Given the description of an element on the screen output the (x, y) to click on. 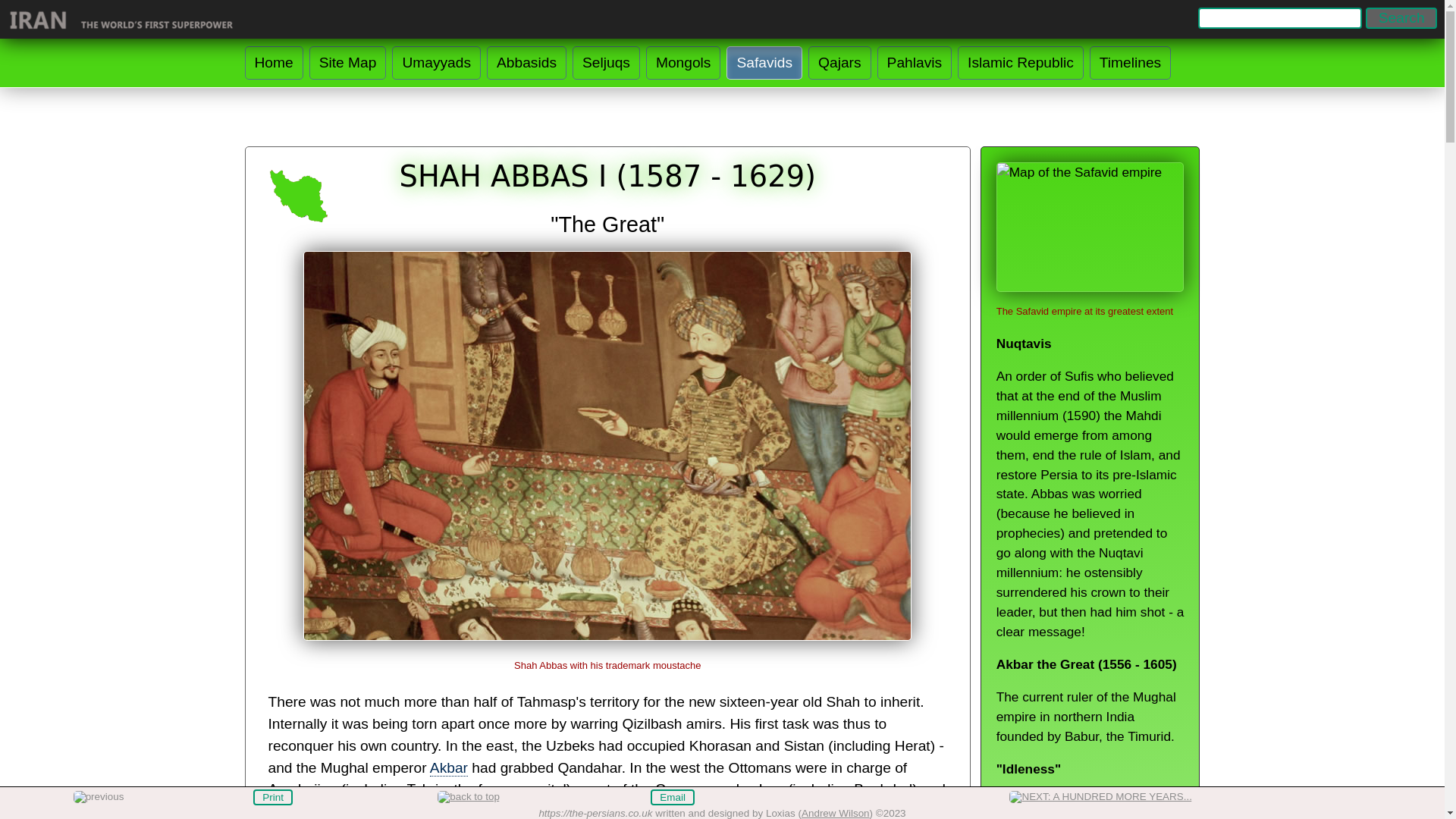
Click me for a map (298, 195)
Search (1401, 17)
SEND ME YOUR COMMENTS OR QUESTIONS (672, 797)
GO BACK TO PREVIOUS PAGE (98, 797)
Print (272, 797)
PRINT THIS PAGE (272, 797)
Umayyads (435, 62)
Safavids (764, 62)
RETURN TO TOP OF THIS PAGE (468, 797)
